Given the description of an element on the screen output the (x, y) to click on. 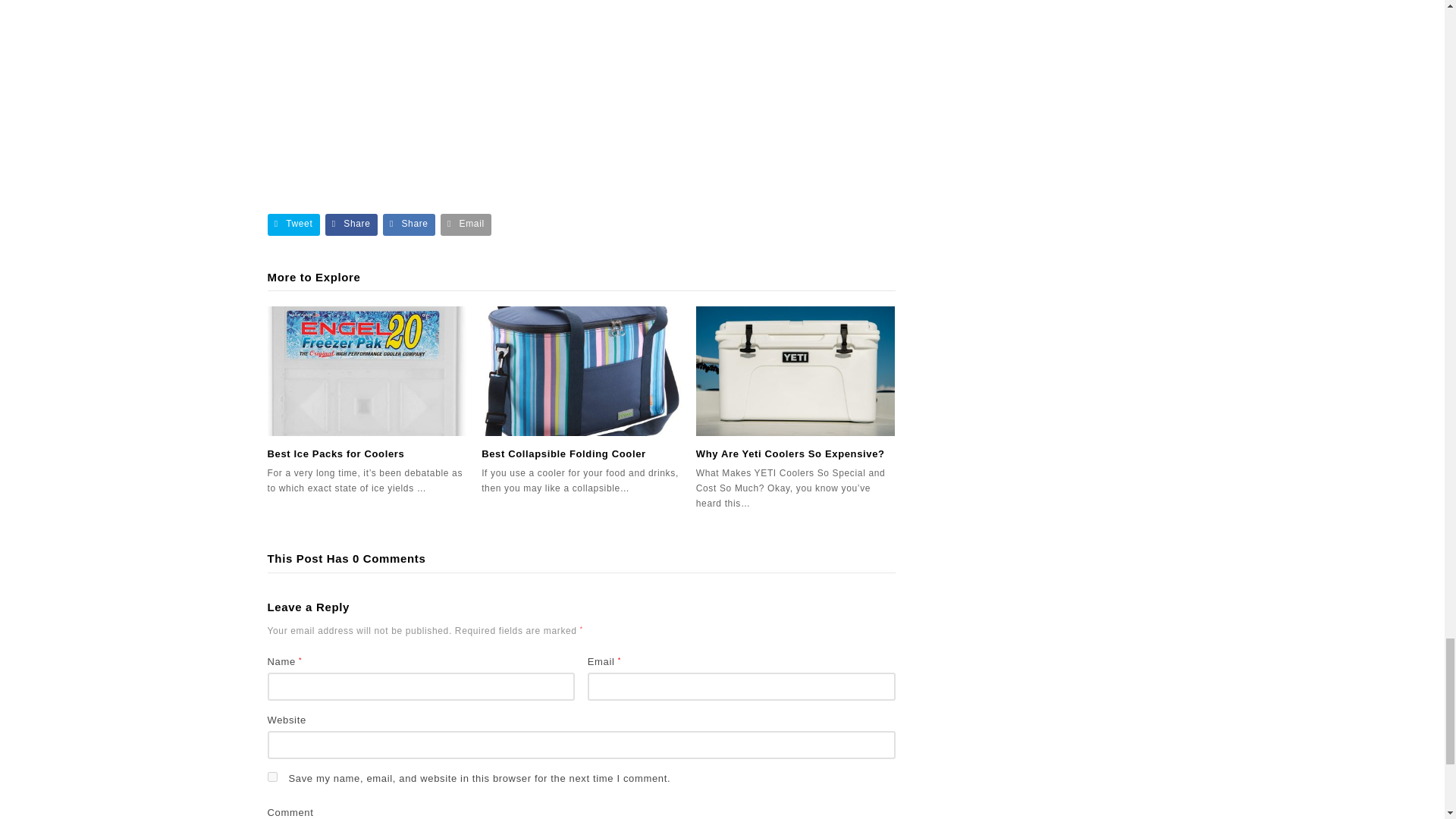
Tweet (292, 224)
Email (466, 224)
Best Ice Packs for Coolers (335, 453)
Why Are Yeti Coolers So Expensive? (795, 370)
Share (350, 224)
Best Collapsible Folding Cooler (563, 453)
Best Collapsible Folding Cooler (581, 370)
Best Ice Packs for Coolers (365, 370)
yes (271, 777)
Why Are Yeti Coolers So Expensive? (790, 453)
Share (408, 224)
